Given the description of an element on the screen output the (x, y) to click on. 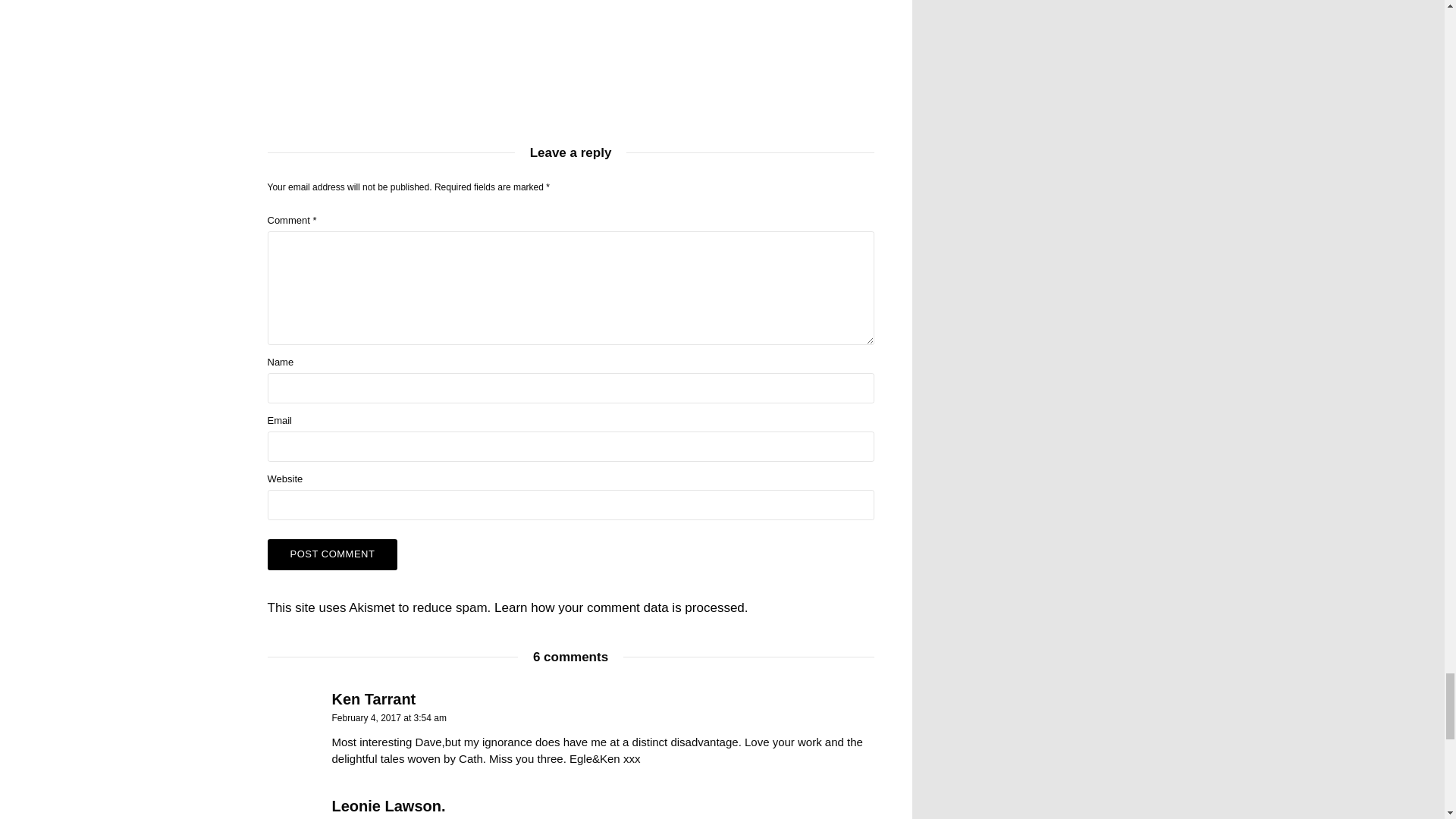
Learn how your comment data is processed (619, 607)
Post Comment (331, 554)
Post Comment (331, 554)
February 4, 2017 at 3:54 am (388, 717)
